Given the description of an element on the screen output the (x, y) to click on. 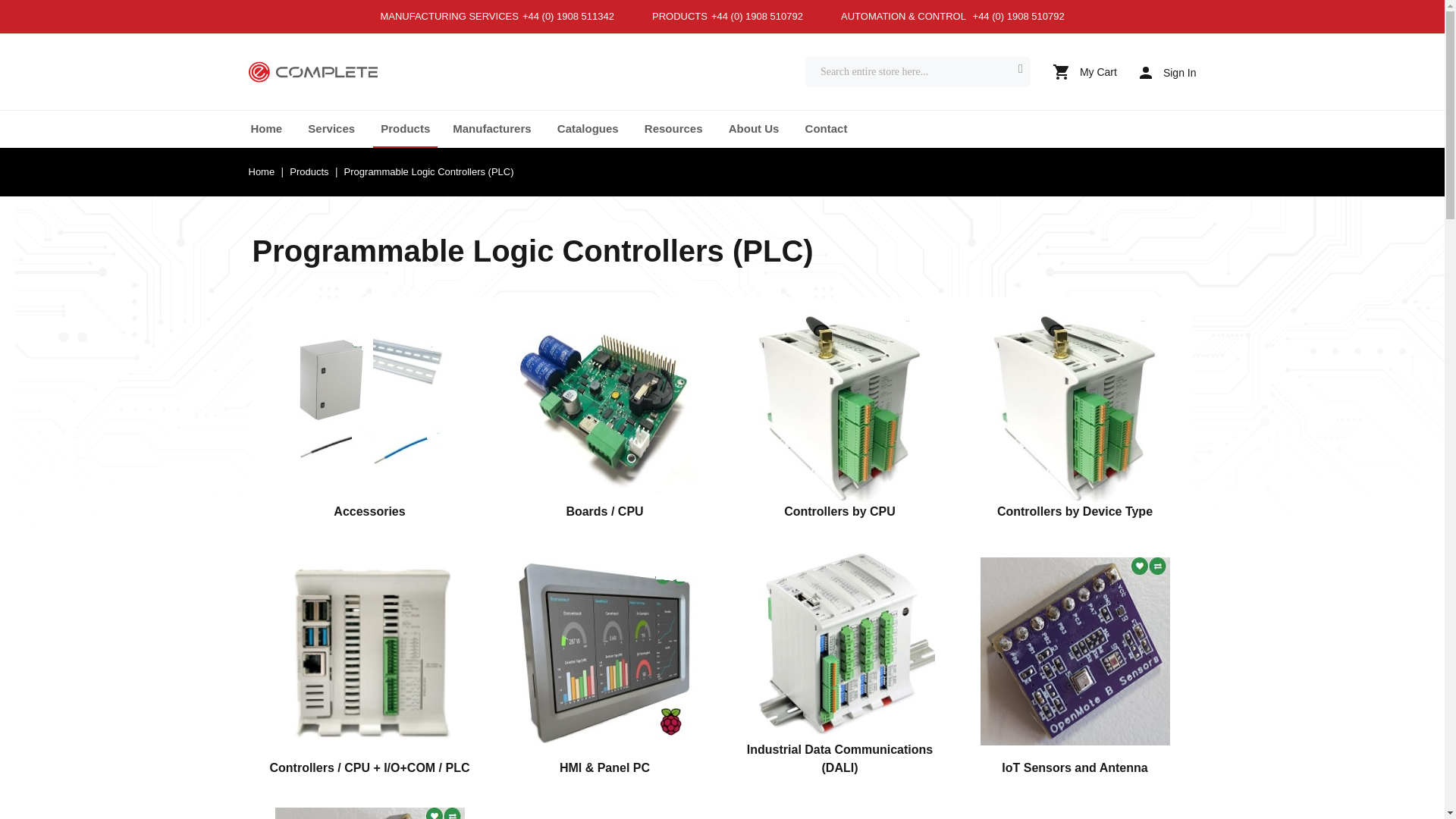
Products (405, 128)
Sign In (1168, 72)
My Cart (1084, 72)
Go to Home Page (263, 171)
Manufacturers (491, 128)
Industrial Connectors and Connectivity Solutions (312, 72)
Home (266, 128)
Services (330, 128)
